Given the description of an element on the screen output the (x, y) to click on. 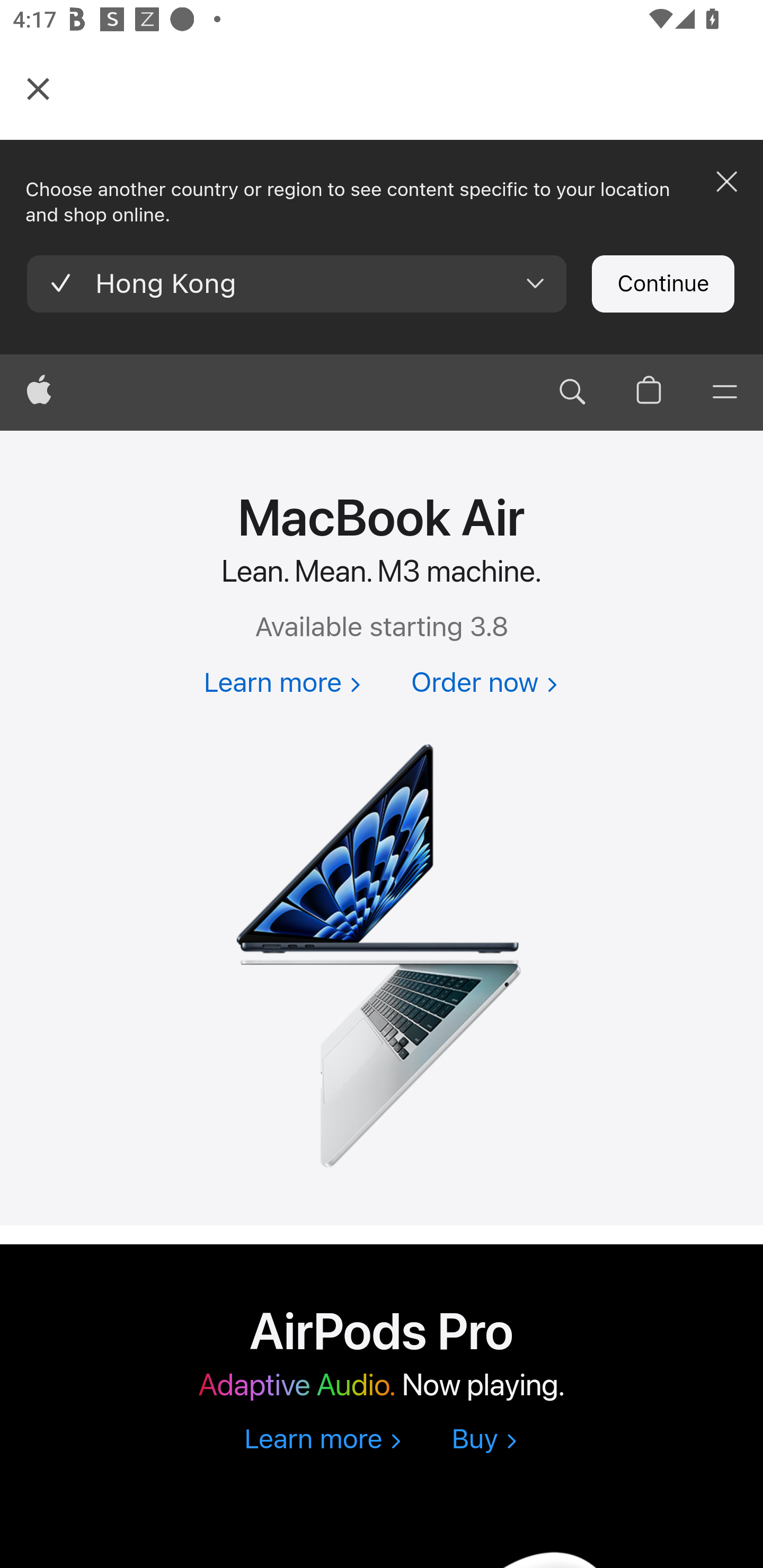
Close (38, 88)
Close country or region selector (725, 181)
 Hong Kong  (297, 283)
Continue (662, 283)
Apple (38, 392)
Search apple.com (572, 392)
Shopping Bag (648, 392)
Menu (724, 392)
Menu (724, 392)
Order now, Macbook Air with M3 chip Order now  (483, 684)
Learn more about AirPods Pro Learn more  (322, 1440)
Buy AirPods Pro Buy  (484, 1440)
